Given the description of an element on the screen output the (x, y) to click on. 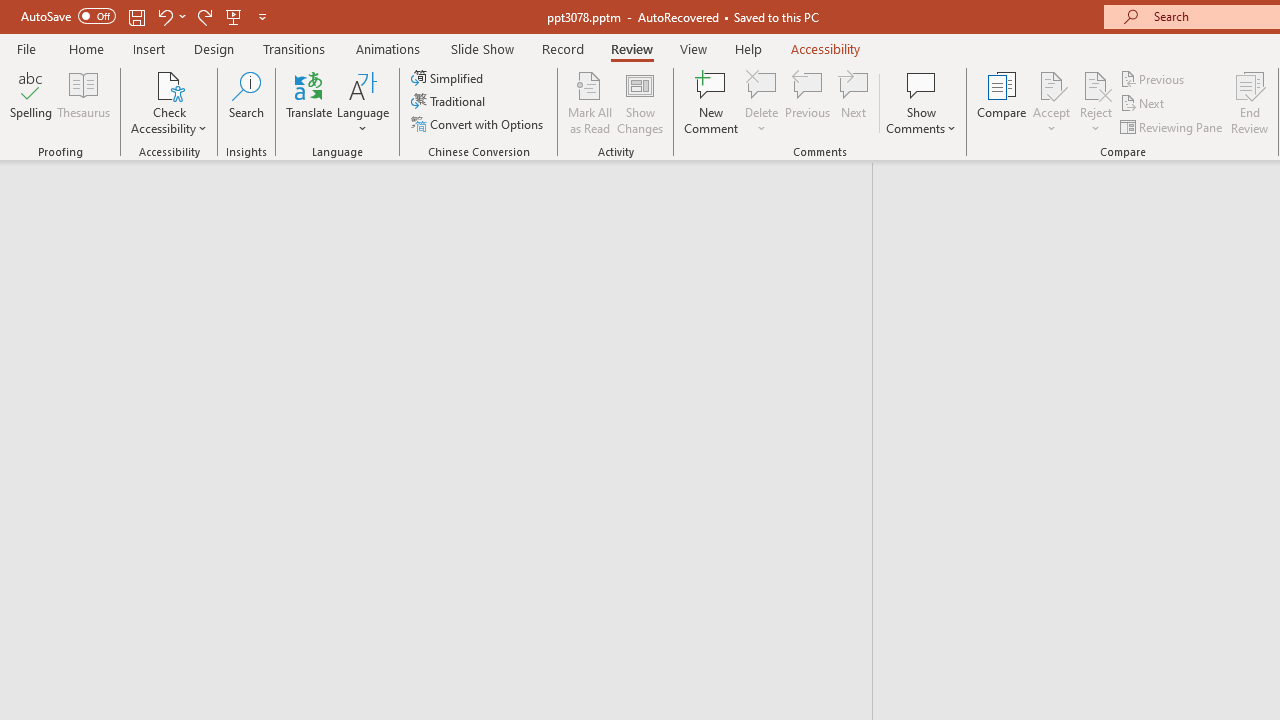
Language (363, 102)
Check Accessibility (169, 102)
Convert with Options... (479, 124)
Reviewing Pane (1172, 126)
End Review (1249, 102)
Spelling... (31, 102)
Delete (762, 102)
Delete (762, 84)
Reject (1096, 102)
